Given the description of an element on the screen output the (x, y) to click on. 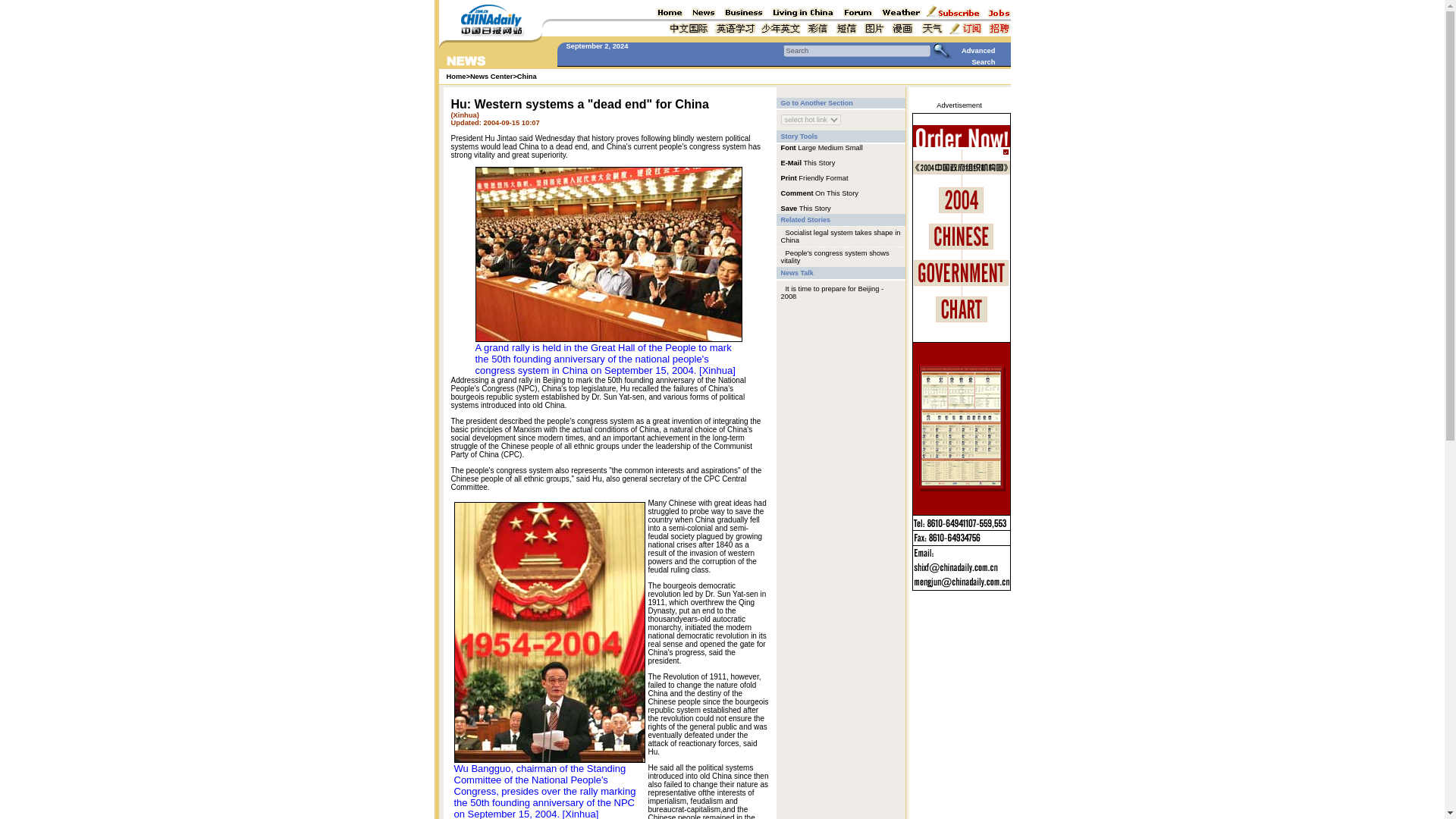
It is time to prepare for Beijing - 2008 (831, 292)
Large (806, 147)
News Center (491, 76)
E-Mail This Story (807, 162)
Search (856, 50)
Small (854, 147)
China (526, 76)
People's congress system shows vitality (834, 256)
Comment On This Story (819, 192)
Socialist legal system takes shape in China (840, 236)
